Given the description of an element on the screen output the (x, y) to click on. 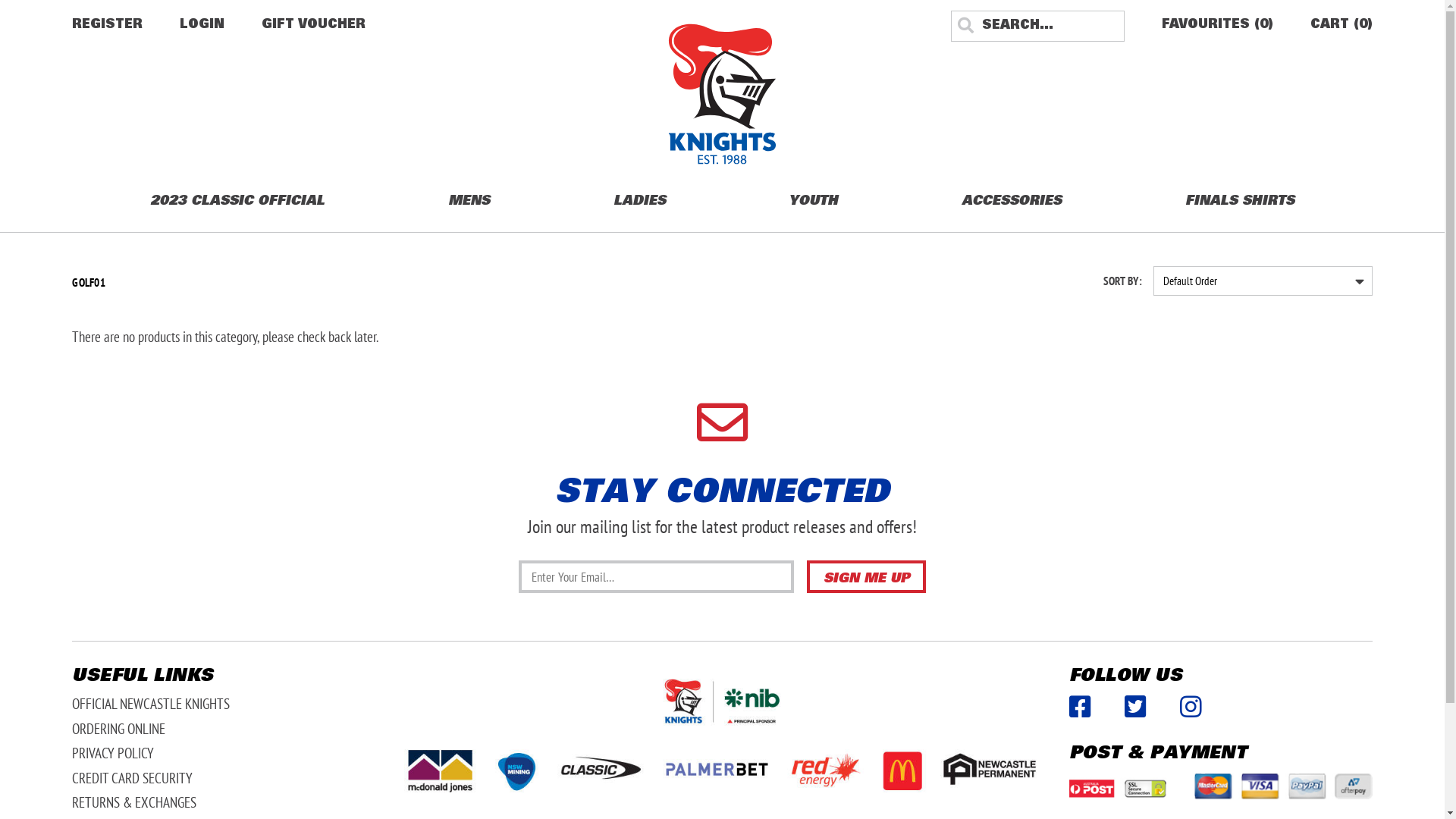
LOGIN Element type: text (201, 26)
CREDIT CARD SECURITY Element type: text (132, 777)
RETURNS & EXCHANGES Element type: text (134, 801)
FAVOURITES 0 Element type: text (1217, 26)
ORDERING ONLINE Element type: text (118, 727)
CART 0 Element type: text (1341, 26)
ACCESSORIES Element type: text (1011, 199)
YOUTH Element type: text (812, 199)
REGISTER Element type: text (107, 26)
LADIES Element type: text (639, 199)
GIFT VOUCHER Element type: text (313, 26)
Facebook Element type: hover (1080, 706)
Search Element type: text (968, 26)
OFFICIAL NEWCASTLE KNIGHTS Element type: text (150, 702)
MENS Element type: text (468, 199)
SIGN ME UP Element type: text (865, 576)
Search Element type: text (10, 7)
2023 CLASSIC OFFICIAL Element type: text (237, 199)
Twitter Element type: hover (1135, 706)
PRIVACY POLICY Element type: text (112, 752)
Instagram Element type: hover (1190, 706)
Show Navigation Element type: text (6, 2)
FINALS SHIRTS Element type: text (1239, 199)
